Given the description of an element on the screen output the (x, y) to click on. 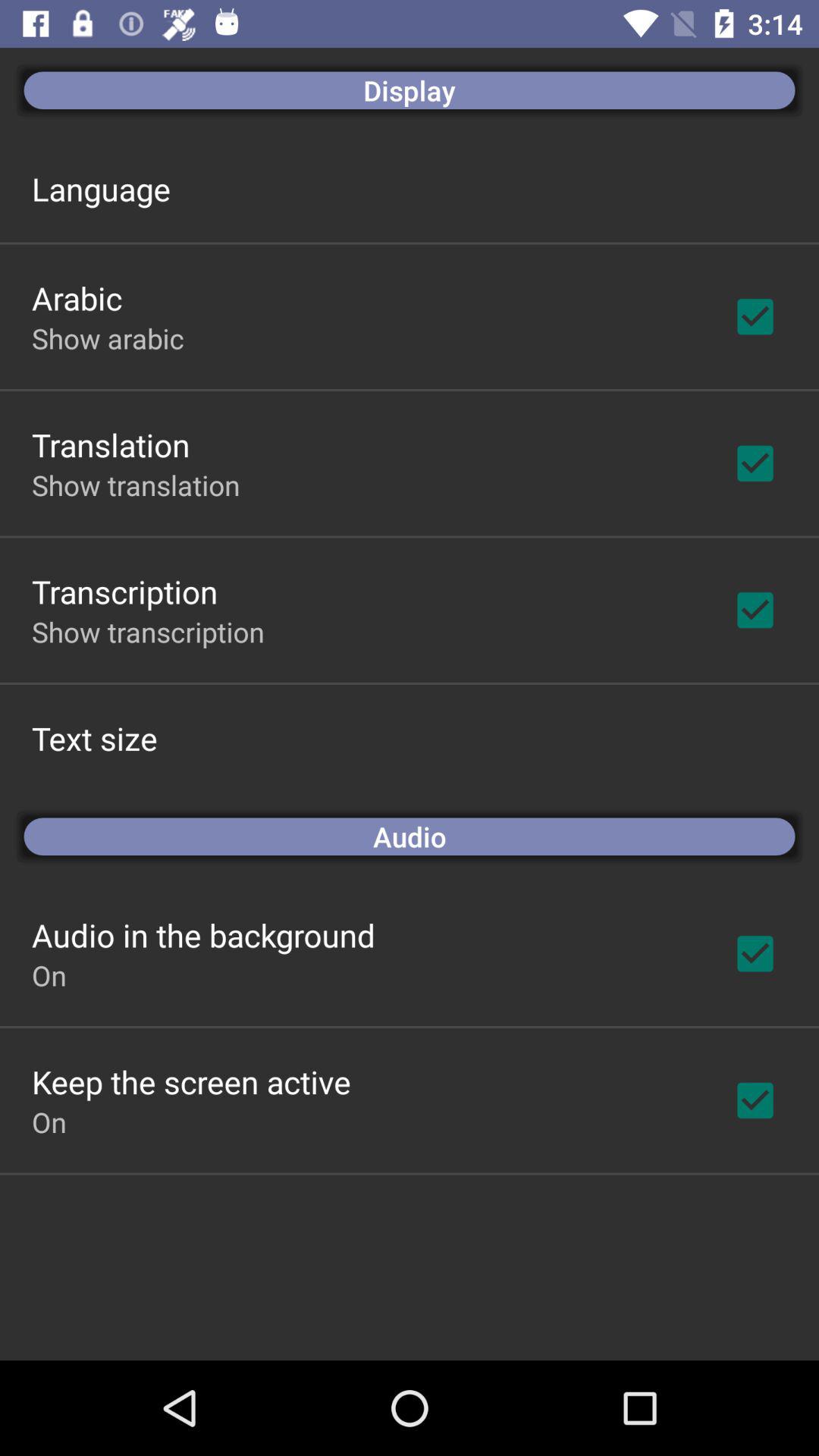
tap the item above the on (203, 934)
